Given the description of an element on the screen output the (x, y) to click on. 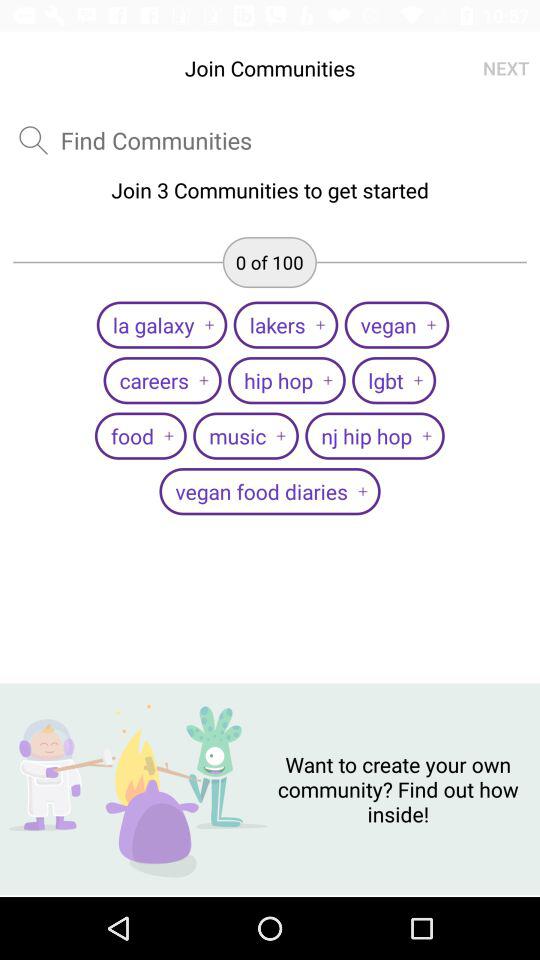
choose the next (506, 67)
